Given the description of an element on the screen output the (x, y) to click on. 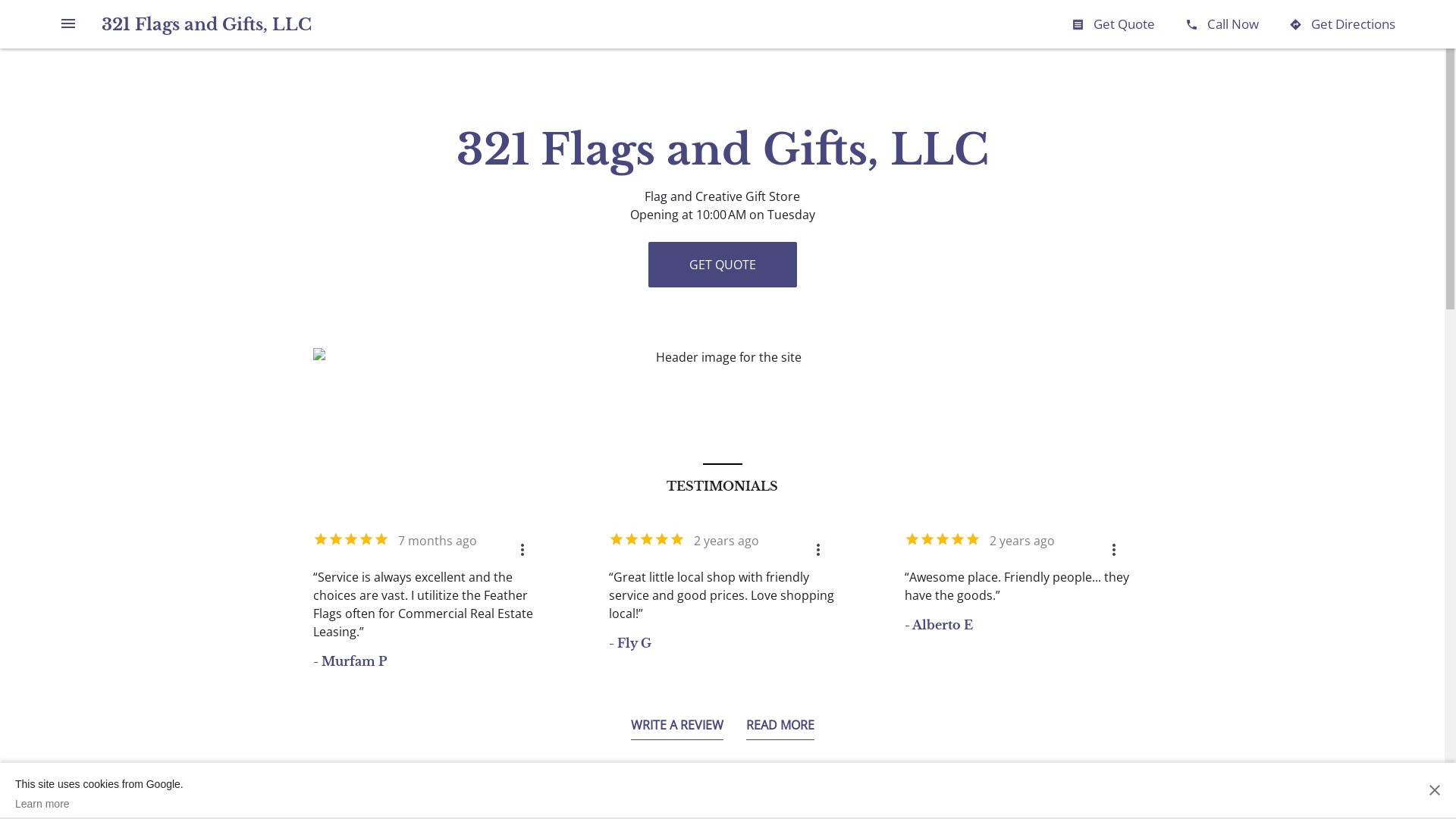
GET QUOTE Element type: text (721, 264)
Learn more Element type: text (99, 803)
READ MORE Element type: text (780, 728)
321 Flags and Gifts, LLC Element type: text (206, 23)
WRITE A REVIEW Element type: text (676, 728)
